Given the description of an element on the screen output the (x, y) to click on. 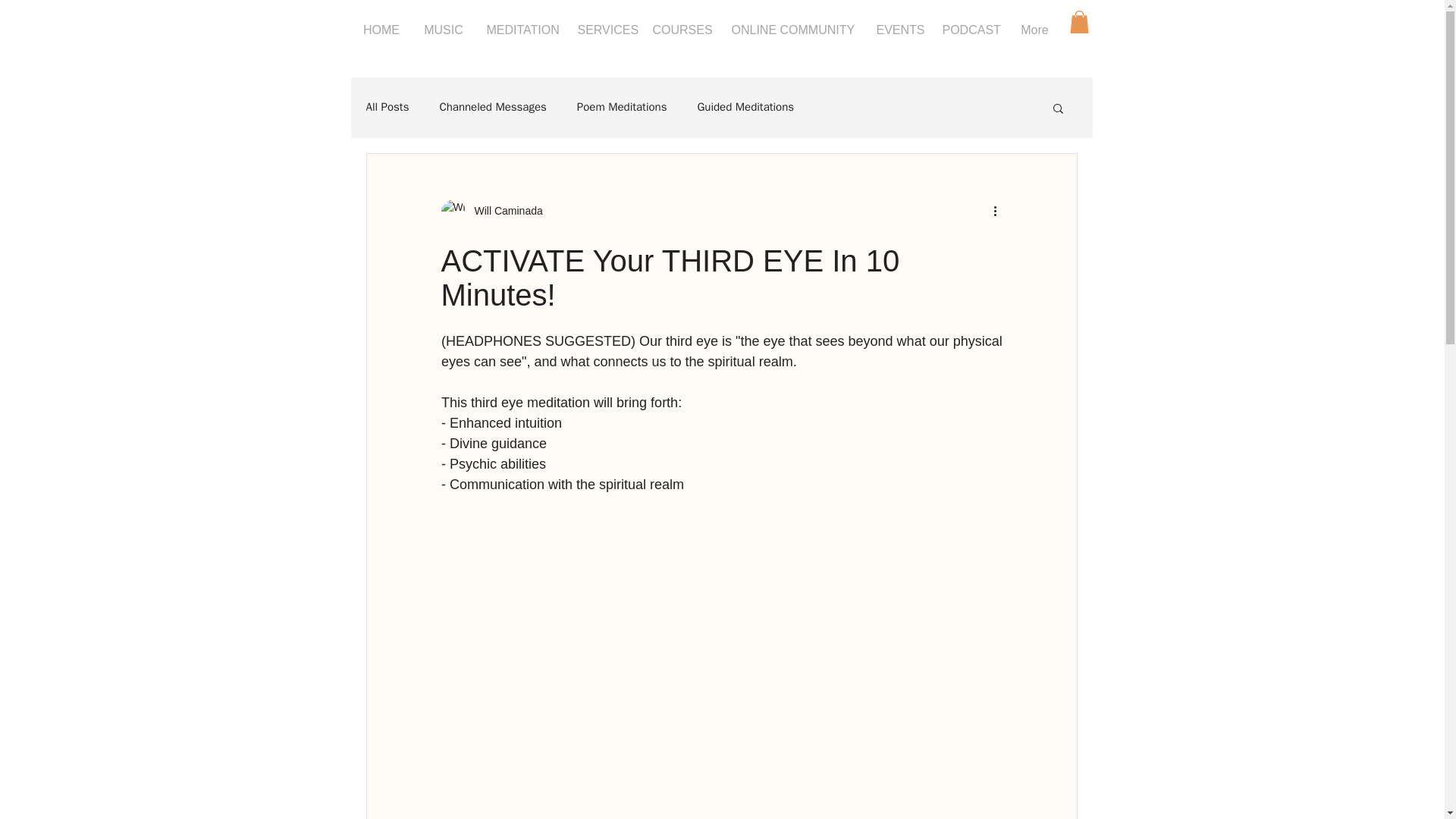
PODCAST (970, 29)
Will Caminada (492, 211)
HOME (381, 29)
SERVICES (603, 29)
Guided Meditations (745, 106)
EVENTS (897, 29)
Channeled Messages (492, 106)
MUSIC (444, 29)
MEDITATION (520, 29)
Poem Meditations (621, 106)
ONLINE COMMUNITY (792, 29)
Will Caminada (504, 211)
All Posts (387, 106)
